Given the description of an element on the screen output the (x, y) to click on. 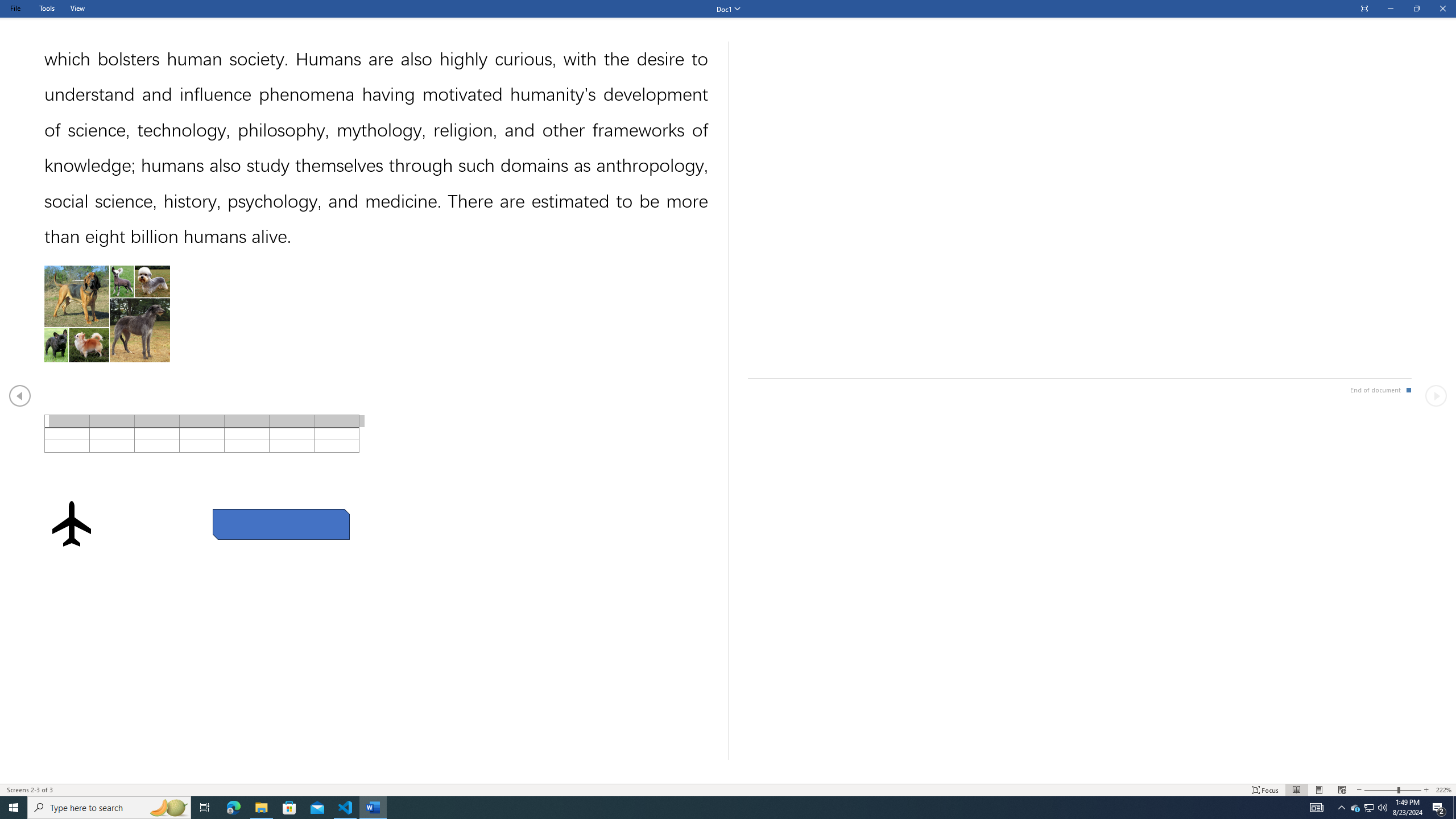
Web Layout (1342, 790)
File Tab (15, 8)
Morphological variation in six dogs (106, 313)
Page Number Screens 2-3 of 3  (29, 790)
View (77, 8)
Text Size (1392, 790)
Airplane with solid fill (71, 523)
Rectangle: Diagonal Corners Snipped 2 (280, 524)
Restore Down (1416, 9)
